Given the description of an element on the screen output the (x, y) to click on. 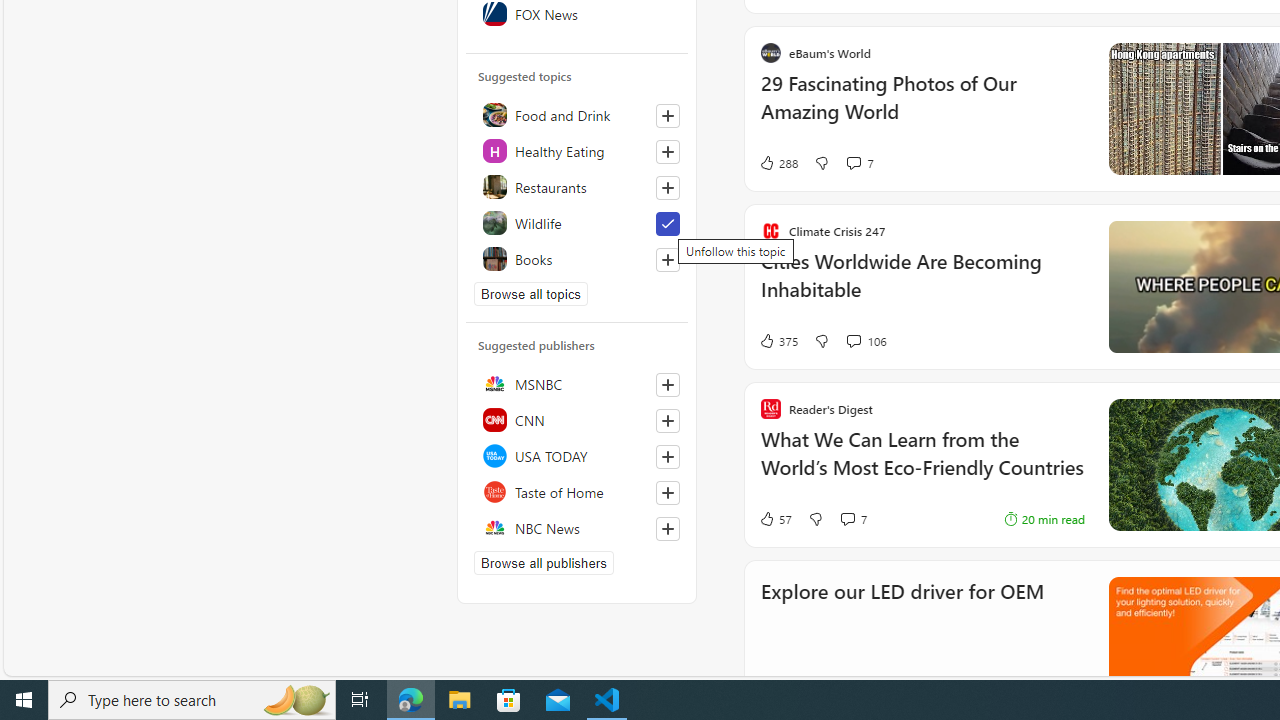
Browse all publishers (543, 562)
